Given the description of an element on the screen output the (x, y) to click on. 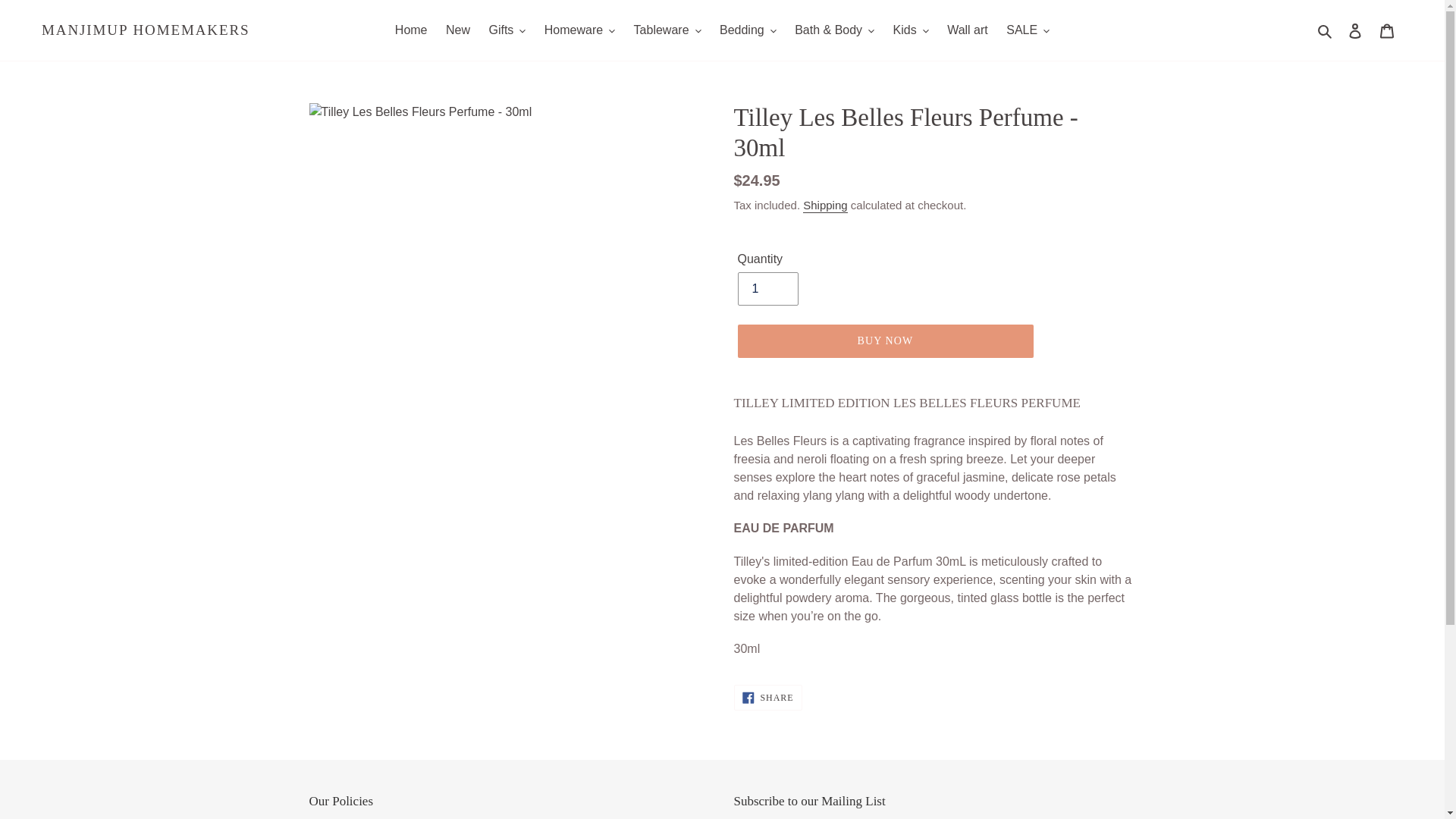
Gifts (506, 29)
Home (411, 29)
New (457, 29)
1 (766, 288)
Homeware (580, 29)
MANJIMUP HOMEMAKERS (146, 30)
